Given the description of an element on the screen output the (x, y) to click on. 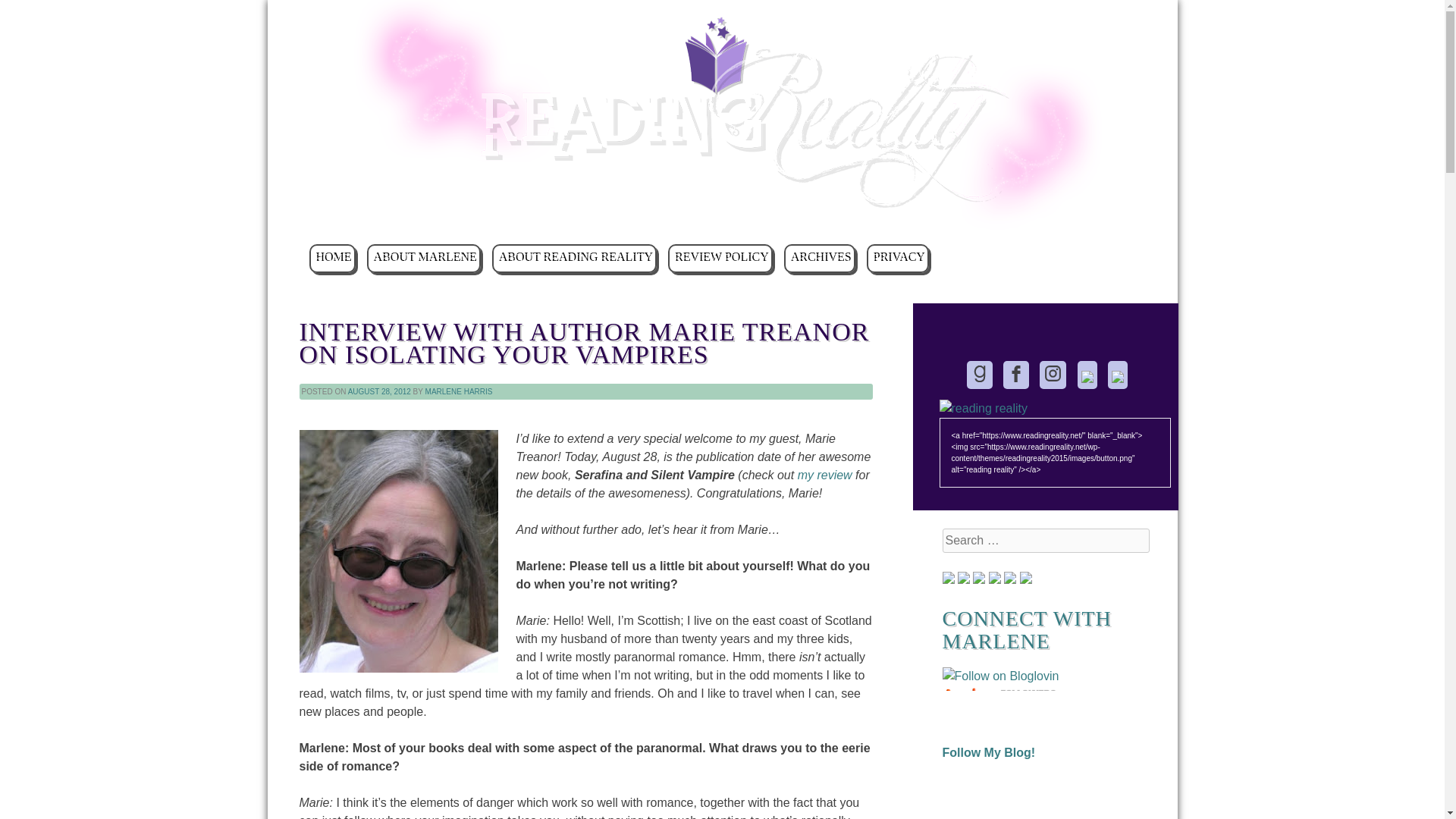
AUGUST 28, 2012 (378, 391)
ABOUT MARLENE (423, 258)
MARLENE HARRIS (459, 391)
Follow Escape Reality, Read Fiction! on Bloglovin (1000, 675)
PRIVACY (897, 258)
ARCHIVES (820, 258)
ABOUT READING REALITY (574, 258)
REVIEW POLICY (720, 258)
HOME (331, 258)
my review (824, 474)
